Given the description of an element on the screen output the (x, y) to click on. 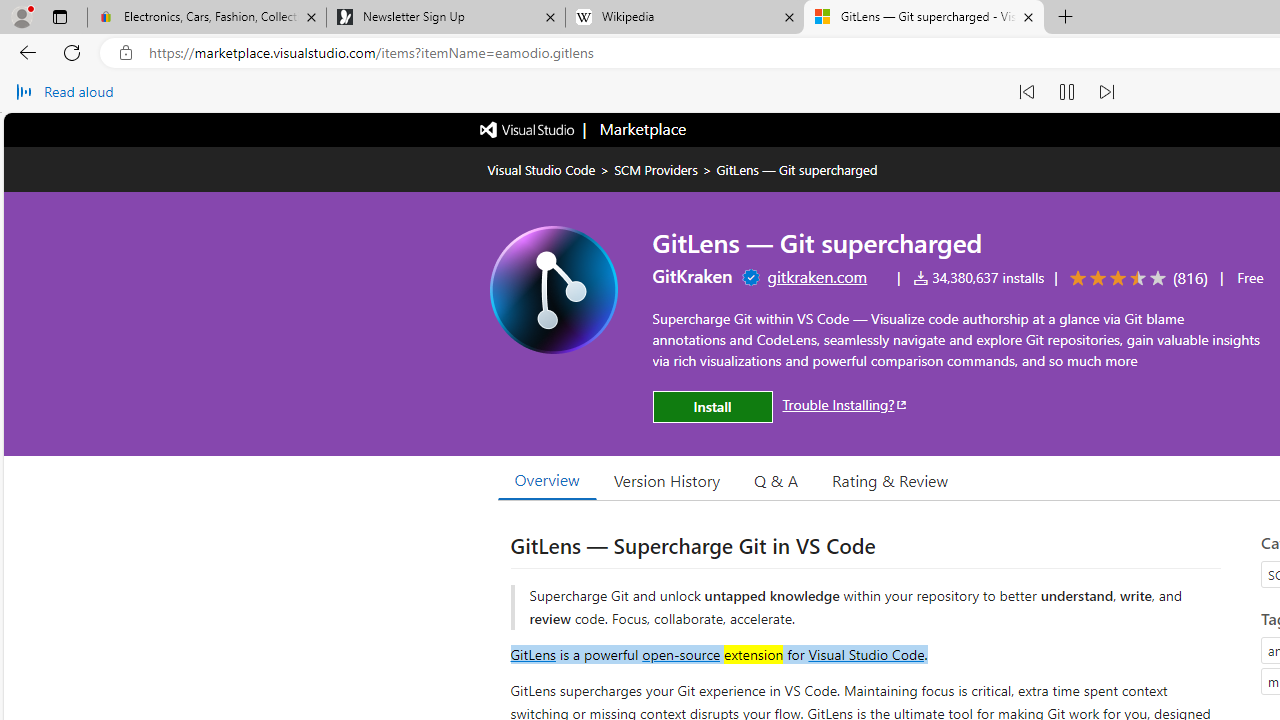
Visual Studio logo Marketplace logo (582, 129)
Rating & Review (890, 479)
Version History (667, 479)
More from GitKraken publisher (692, 276)
Install (712, 406)
Pause read aloud (Ctrl+Shift+U) (1065, 92)
Read previous paragraph (1026, 92)
